Given the description of an element on the screen output the (x, y) to click on. 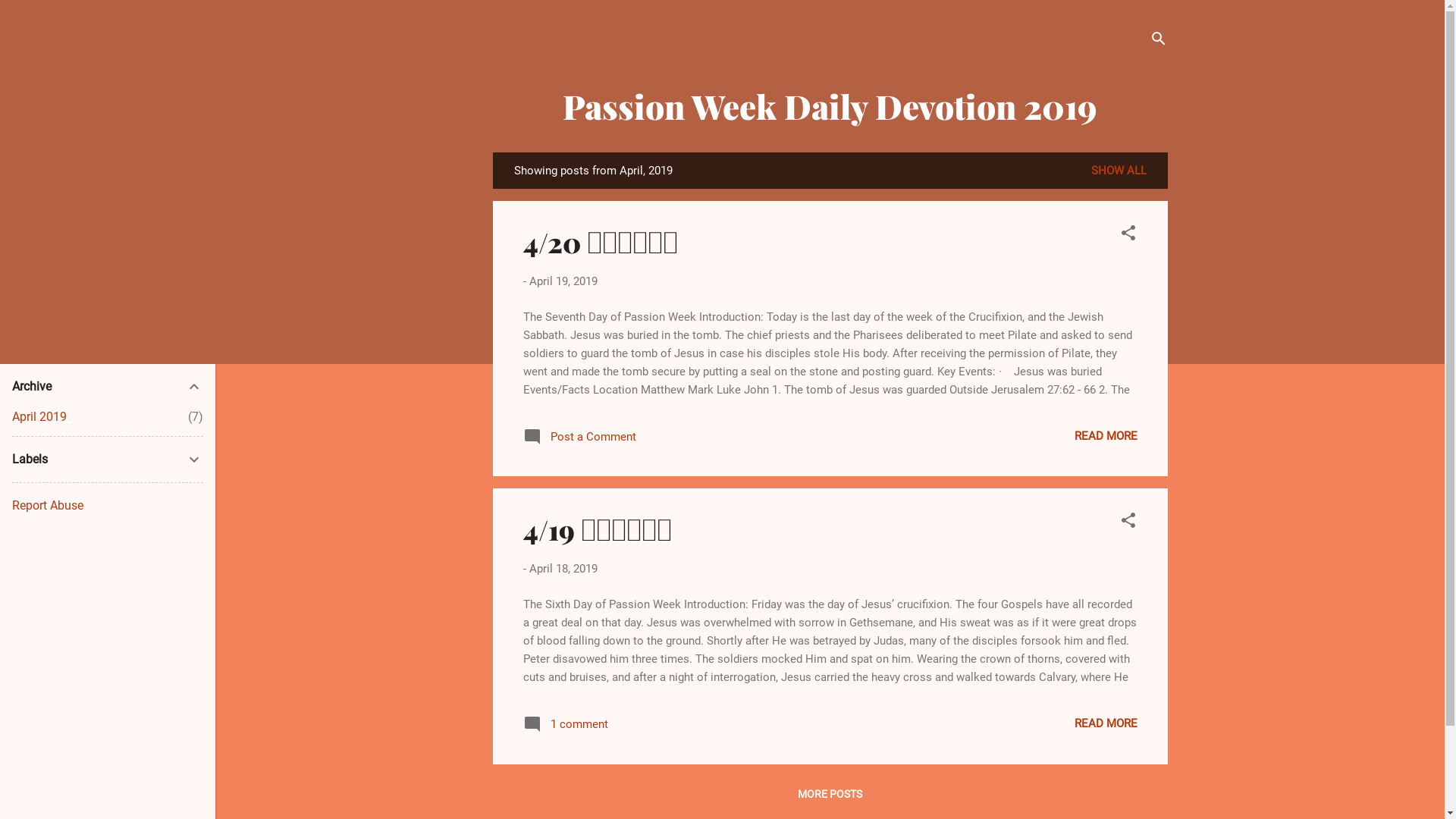
1 comment Element type: text (565, 729)
Search Element type: text (28, 18)
SHOW ALL Element type: text (1117, 170)
READ MORE Element type: text (1104, 435)
Report Abuse Element type: text (47, 505)
READ MORE Element type: text (1104, 723)
April 19, 2019 Element type: text (563, 281)
April 2019
7 Element type: text (39, 416)
April 18, 2019 Element type: text (563, 568)
Post a Comment Element type: text (579, 441)
Passion Week Daily Devotion 2019 Element type: text (829, 105)
MORE POSTS Element type: text (829, 793)
